Given the description of an element on the screen output the (x, y) to click on. 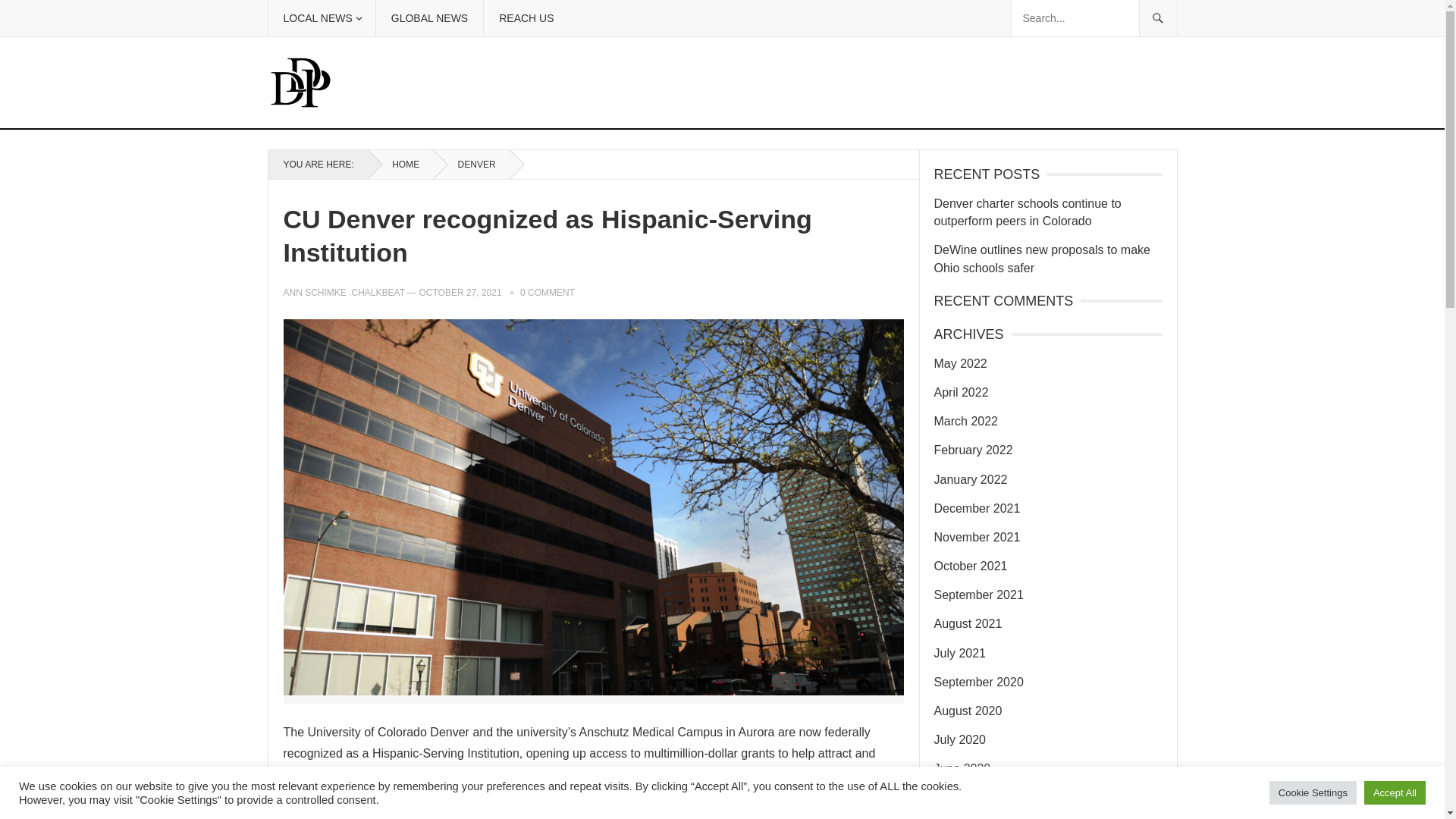
November 2021 (977, 536)
January 2022 (970, 479)
September 2020 (978, 681)
May 2022 (960, 363)
October 2021 (970, 565)
July 2021 (960, 653)
December 2021 (977, 508)
REACH US (526, 18)
DENVER (471, 164)
August 2020 (968, 710)
